Given the description of an element on the screen output the (x, y) to click on. 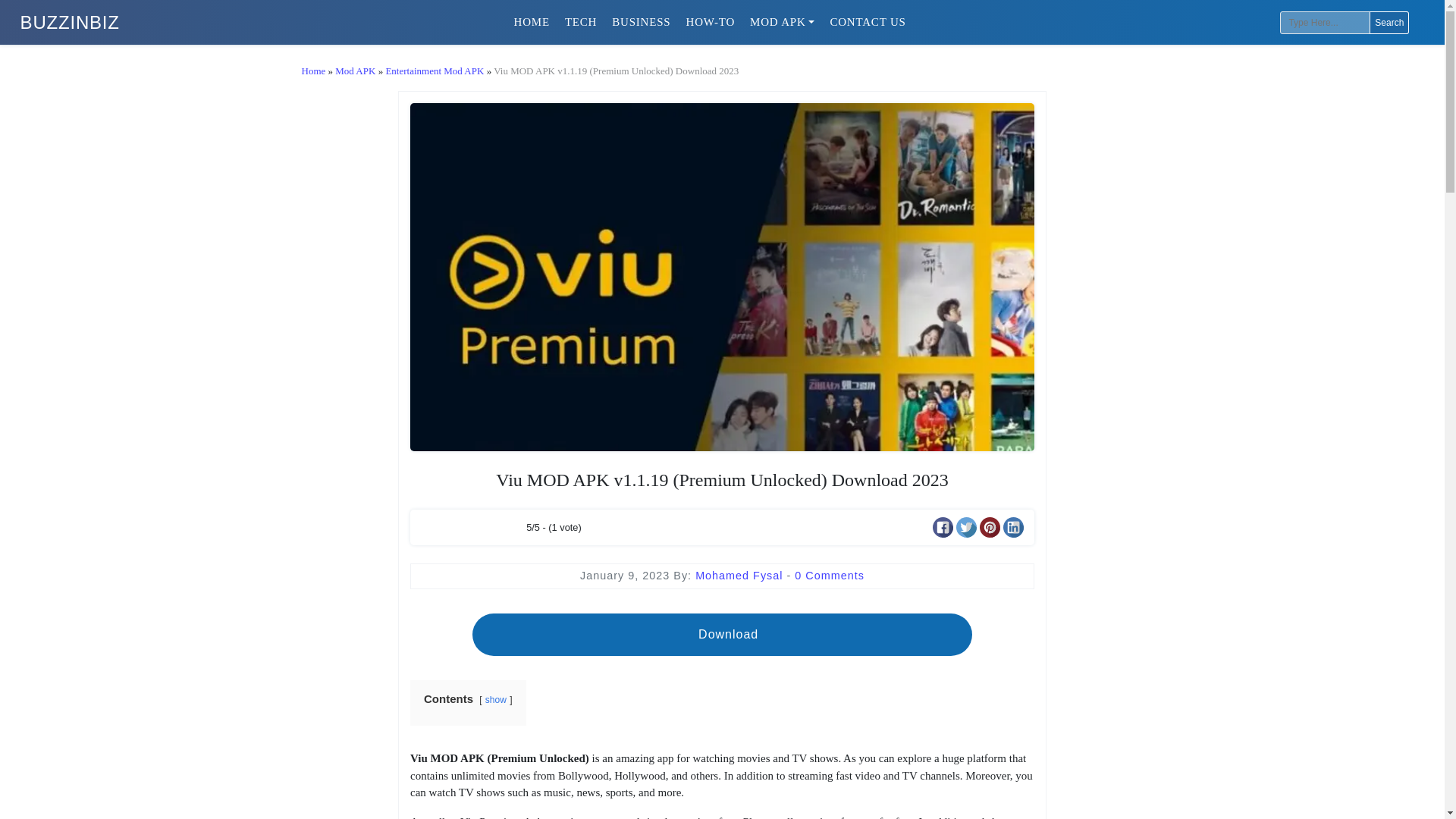
BUZZINBIZ (70, 22)
how-to (710, 21)
TECH (580, 21)
   Download (721, 634)
business (641, 21)
Mod APK (354, 70)
MOD APK (782, 21)
Mod APK (782, 21)
BUSINESS (641, 21)
0 Comments (829, 575)
Search (1389, 22)
Home (531, 21)
HOW-TO (710, 21)
show (495, 699)
HOME (531, 21)
